Given the description of an element on the screen output the (x, y) to click on. 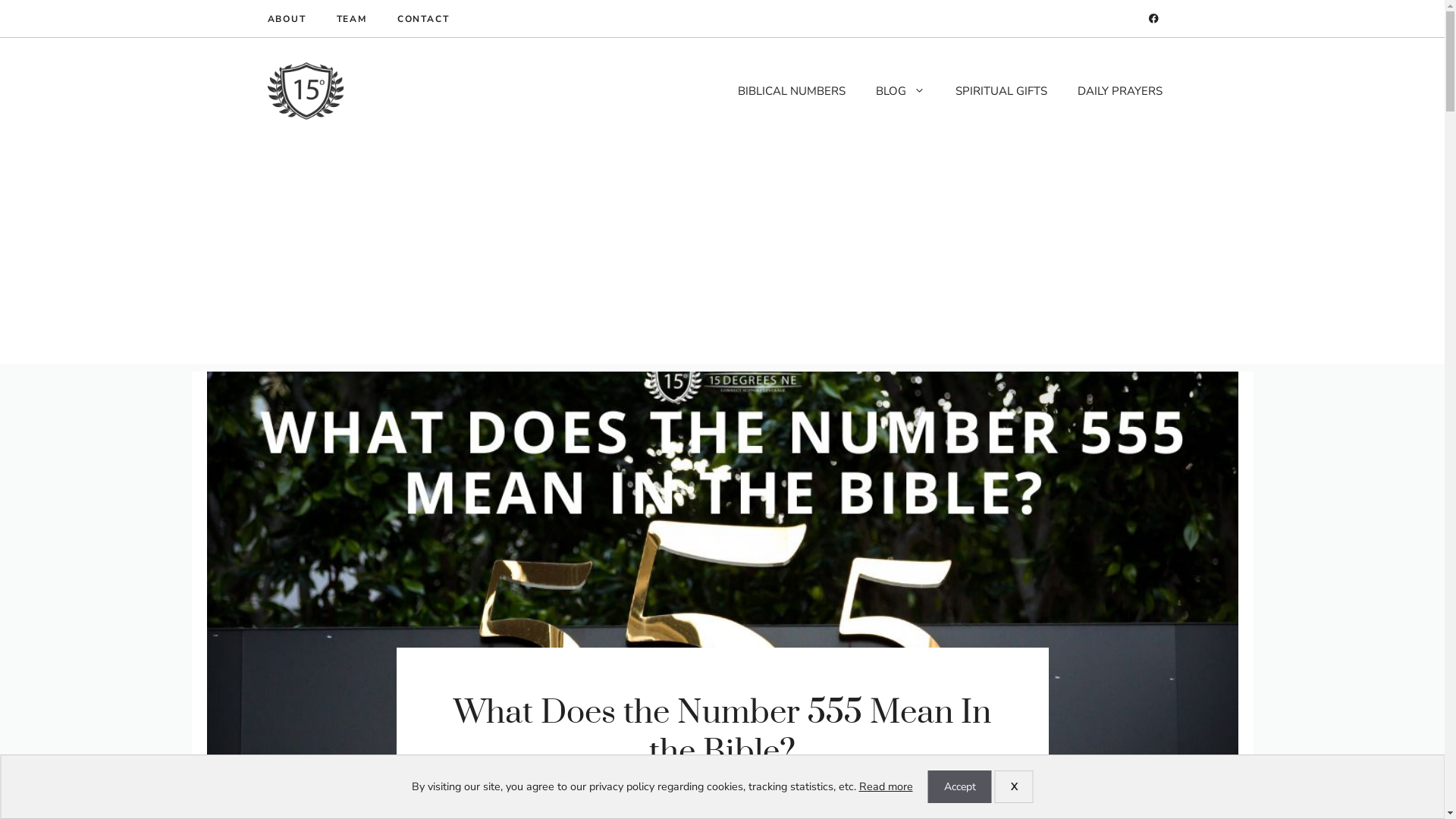
CONTACT Element type: text (423, 18)
Accept Element type: text (959, 786)
Read more Element type: text (885, 785)
BIBLICAL NUMBERS Element type: text (790, 90)
DAILY PRAYERS Element type: text (1118, 90)
ABOUT Element type: text (285, 18)
TEAM Element type: text (351, 18)
Lucas Duxbury Element type: text (801, 793)
Advertisement Element type: hover (721, 257)
SPIRITUAL GIFTS Element type: text (1001, 90)
X Element type: text (1013, 786)
BLOG Element type: text (899, 90)
